Given the description of an element on the screen output the (x, y) to click on. 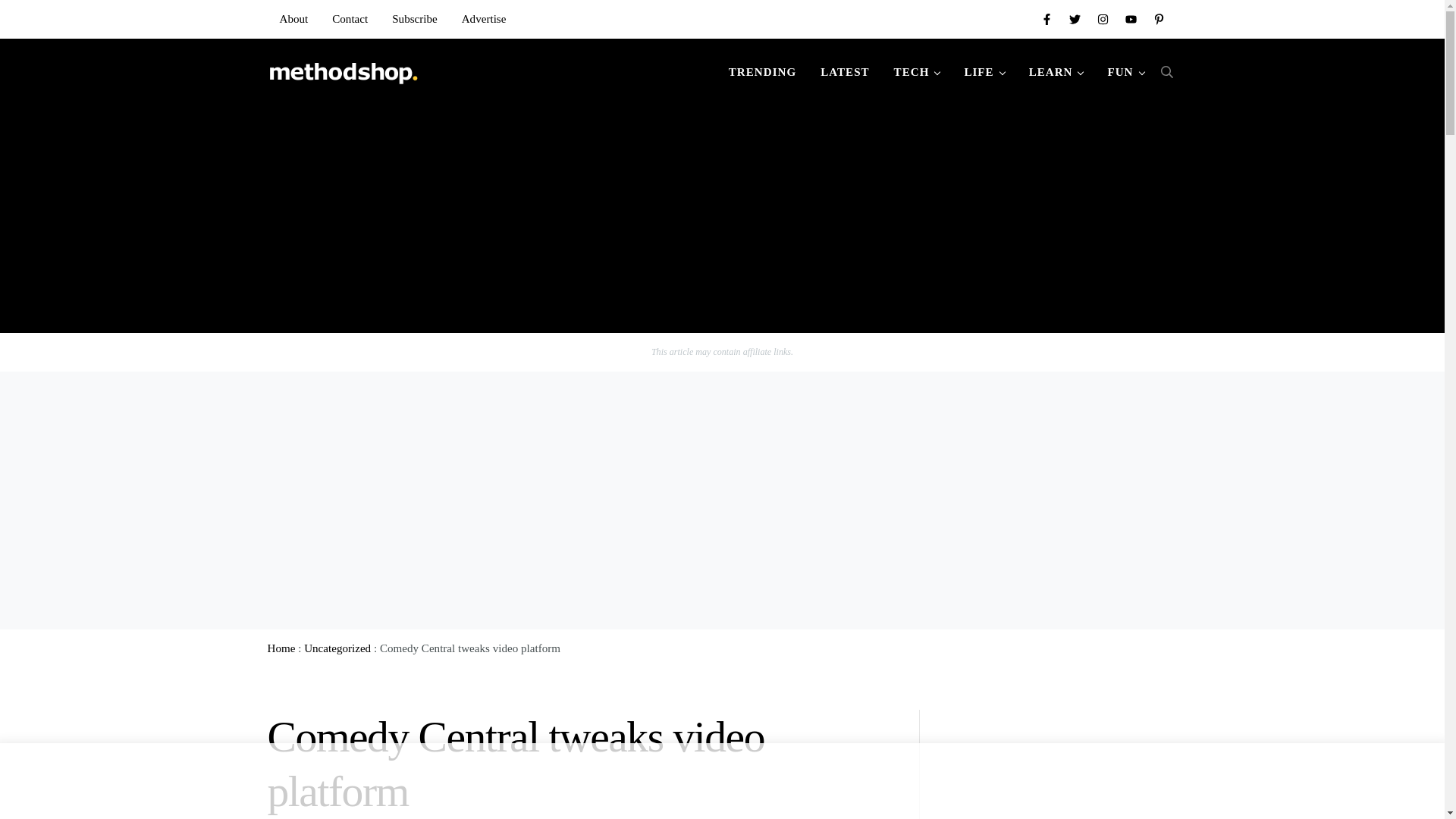
TRENDING (762, 71)
Advertise (483, 18)
TECH (917, 71)
Contact (350, 18)
LIFE (984, 71)
LEARN (1056, 71)
LATEST (844, 71)
Subscribe (414, 18)
About (293, 18)
